Given the description of an element on the screen output the (x, y) to click on. 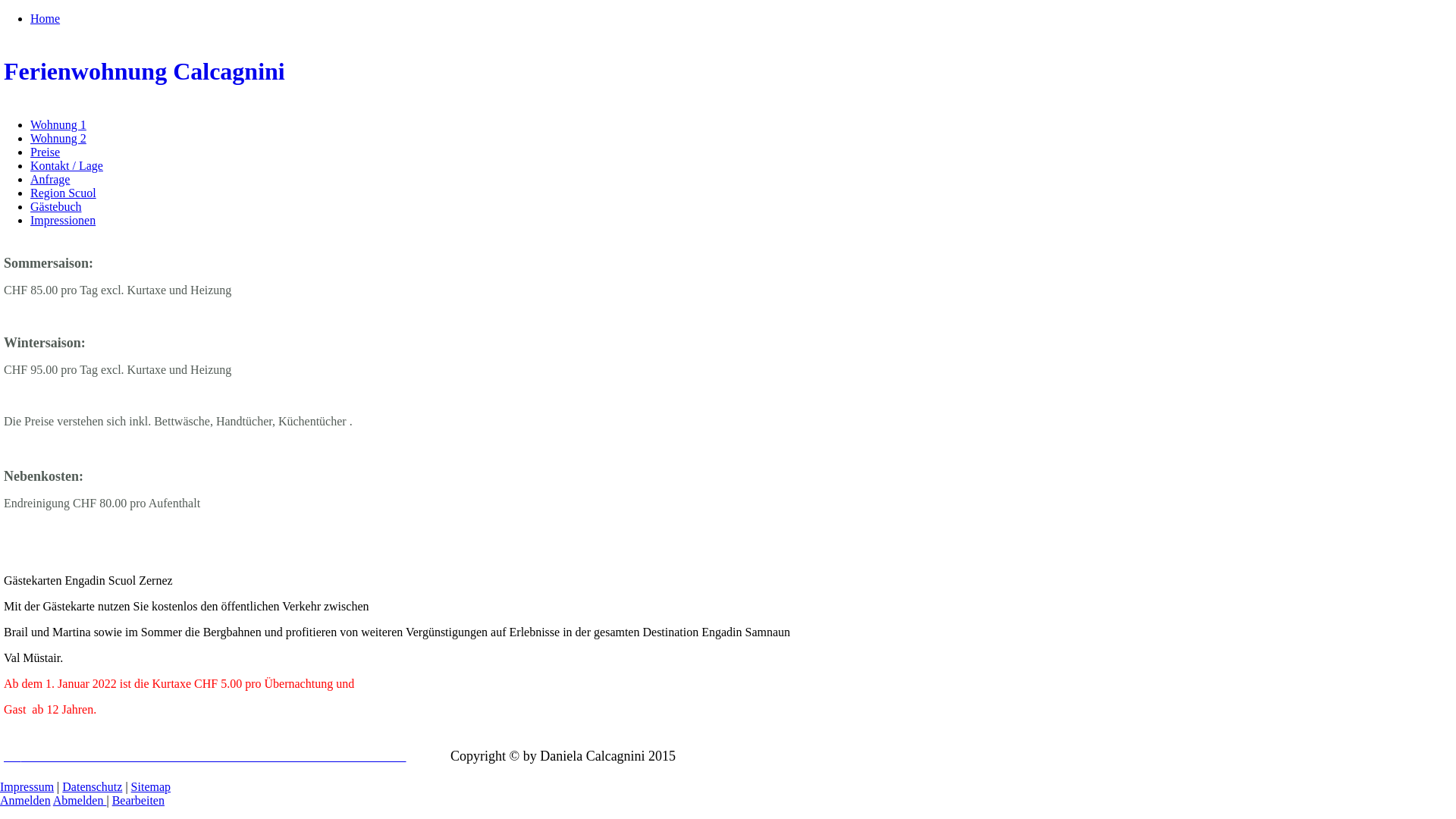
Kontakt / Lage Element type: text (66, 165)
Impressionen Element type: text (62, 219)
Anfrage Element type: text (49, 178)
Impressum Element type: text (26, 786)
Sitemap Element type: text (150, 786)
Home Element type: text (44, 18)
Kontakt / Lage Element type: hover (204, 755)
Wohnung 2 Element type: text (58, 137)
Ferienwohnung Calcagnini Element type: text (727, 71)
Region Scuol Element type: text (63, 192)
Datenschutz Element type: text (92, 786)
Bearbeiten Element type: text (138, 799)
Anmelden Element type: text (25, 799)
Abmelden Element type: text (79, 799)
Preise Element type: text (44, 151)
Wohnung 1 Element type: text (58, 124)
